Given the description of an element on the screen output the (x, y) to click on. 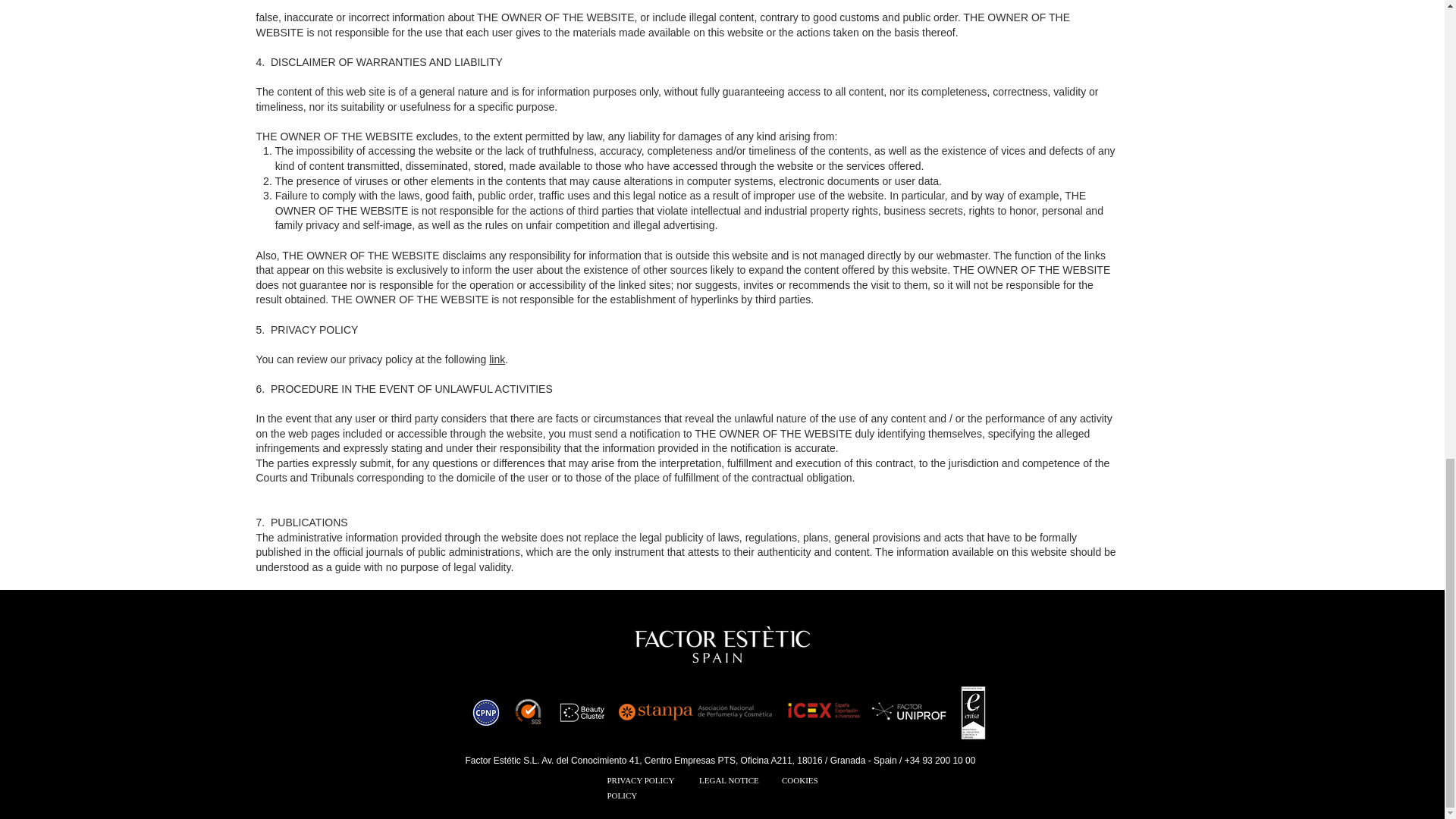
COOKIES POLICY (711, 787)
PRIVACY POLICY (640, 779)
link (497, 358)
LEGAL NOTICE (729, 779)
